Given the description of an element on the screen output the (x, y) to click on. 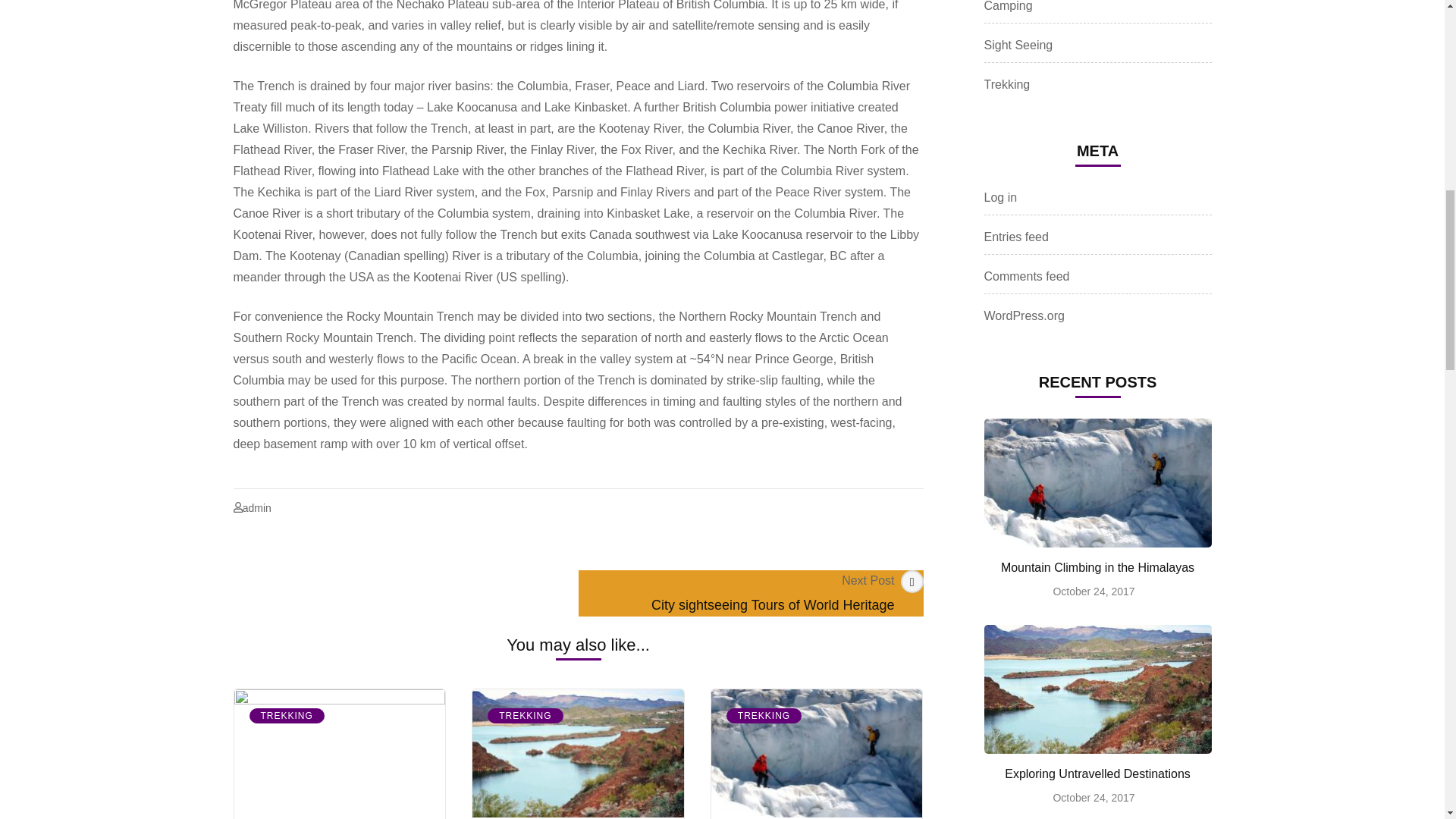
admin (256, 508)
TREKKING (285, 715)
